Given the description of an element on the screen output the (x, y) to click on. 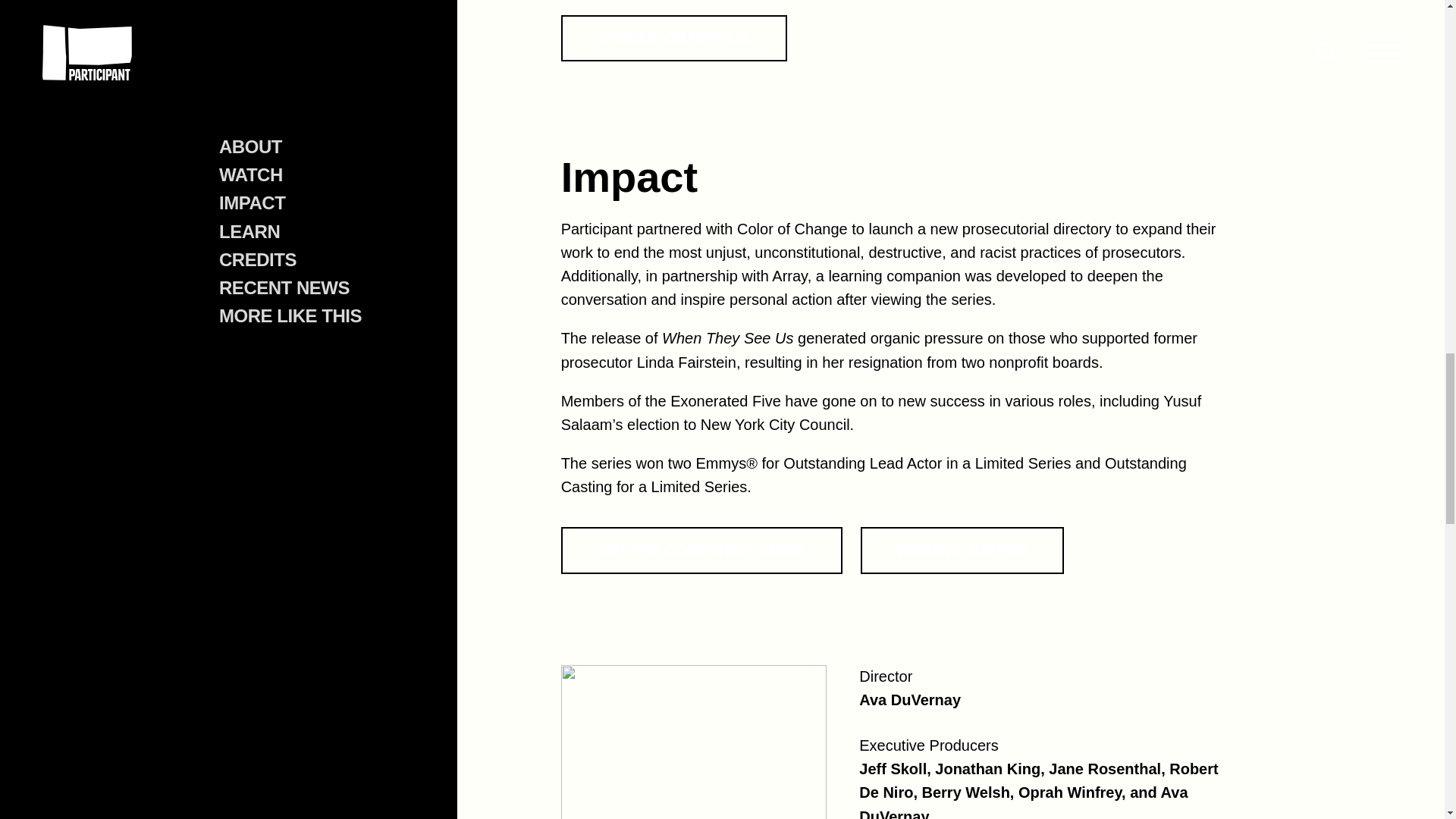
WINNING JUSTICE (962, 550)
GET THE COMPANION GUIDE (700, 550)
STREAM ON NETFLIX (673, 38)
